Given the description of an element on the screen output the (x, y) to click on. 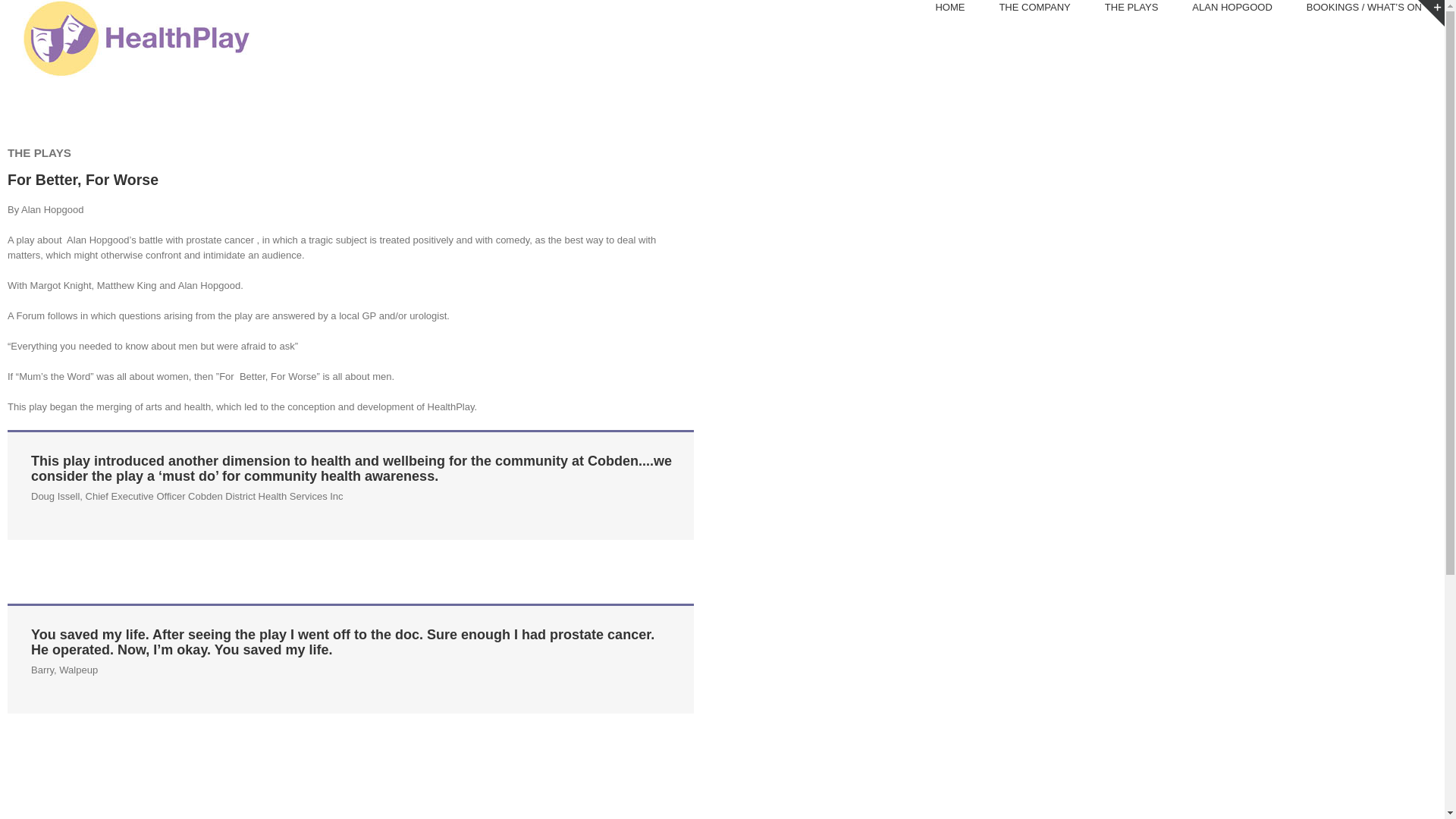
YouTube video player Element type: hover (977, 266)
HOME Element type: text (949, 7)
THE PLAYS Element type: text (1131, 7)
ALAN HOPGOOD Element type: text (1231, 7)
THE COMPANY Element type: text (1034, 7)
